Given the description of an element on the screen output the (x, y) to click on. 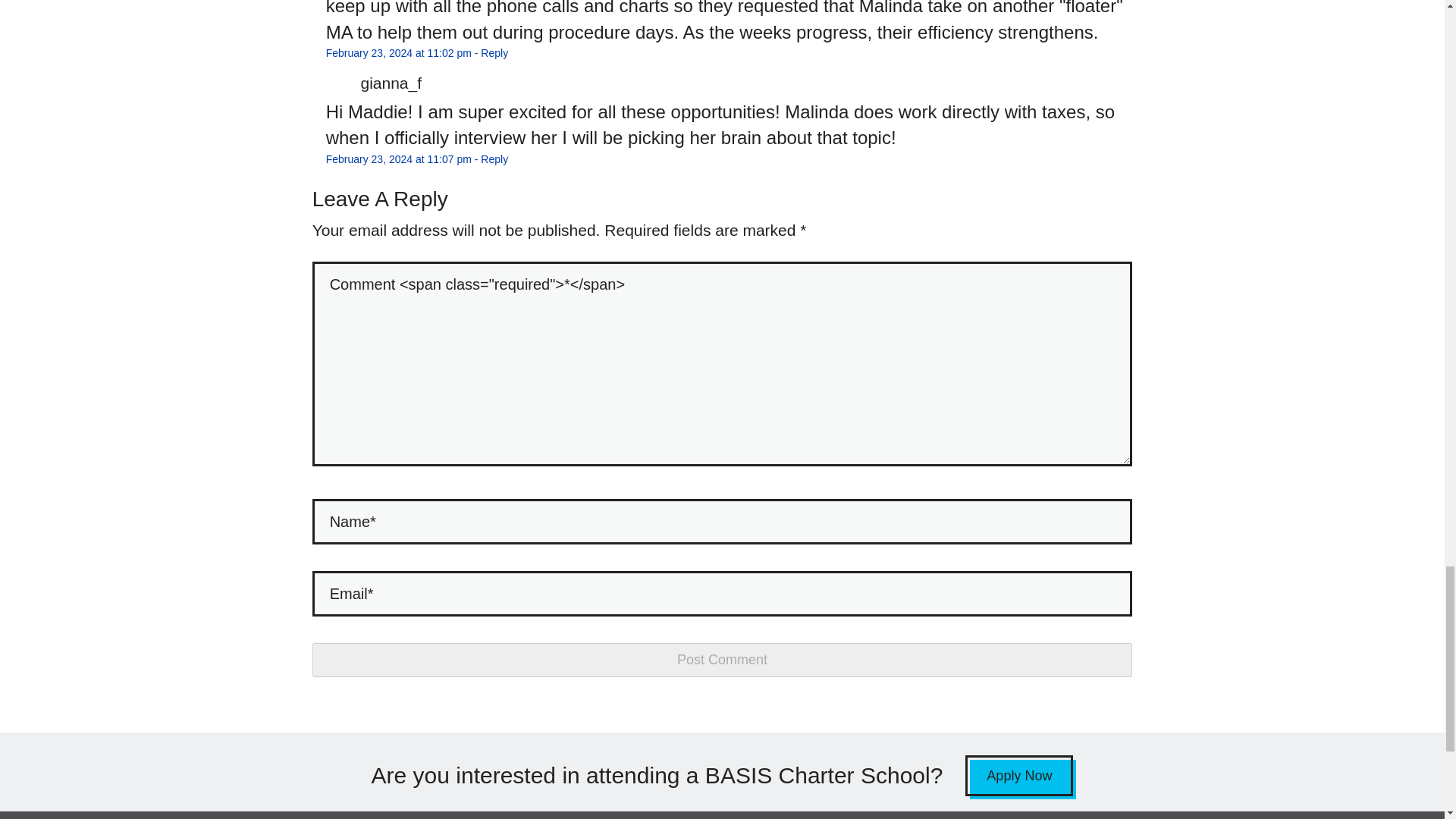
February 23, 2024 at 11:02 pm - (403, 52)
Reply (494, 52)
Post Comment (722, 659)
Post Comment (722, 659)
February 23, 2024 at 11:07 pm - (403, 159)
Apply Now (1019, 775)
Reply (494, 159)
